Given the description of an element on the screen output the (x, y) to click on. 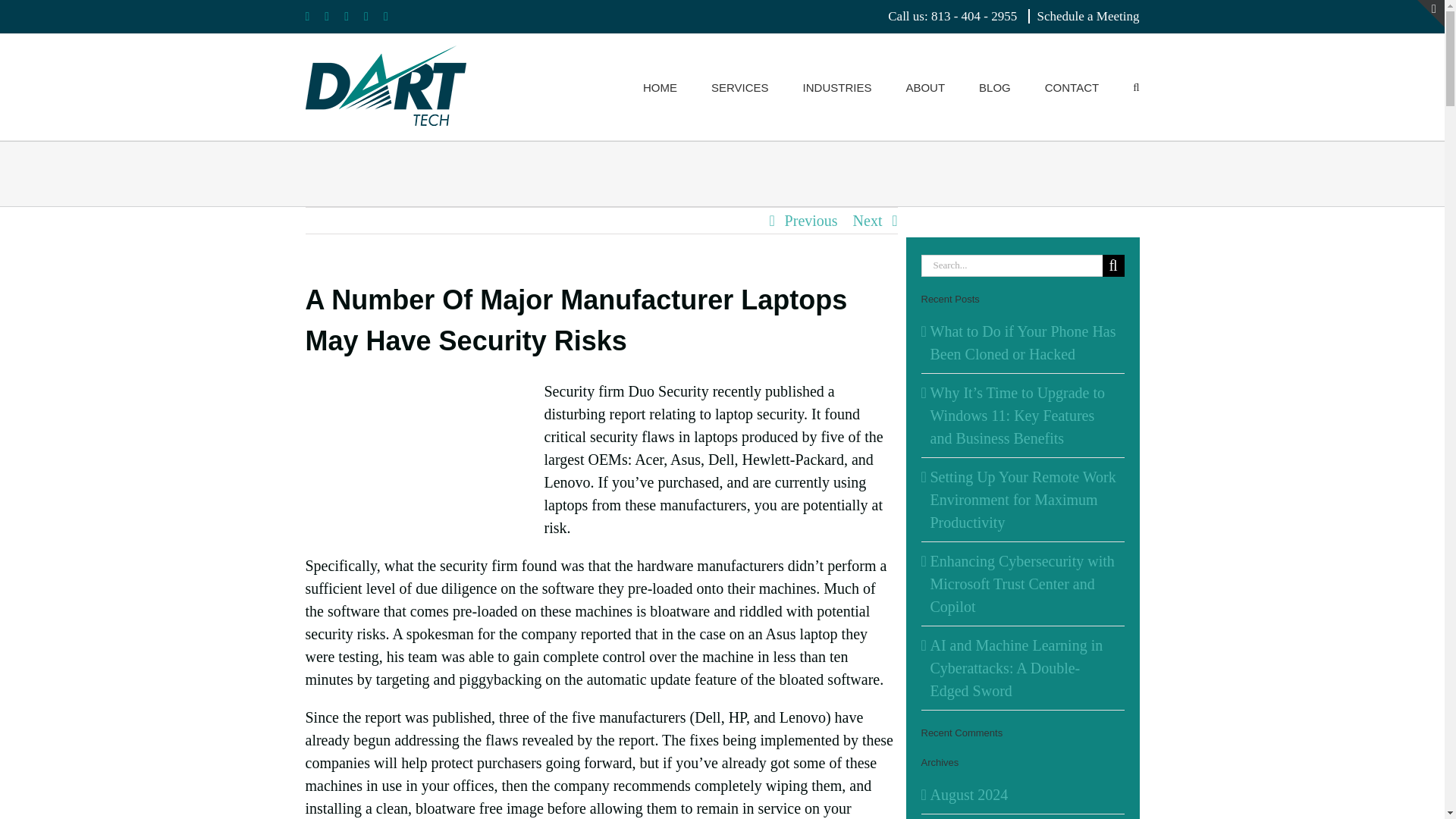
Next (867, 220)
Schedule a Meeting (1083, 16)
Previous (811, 220)
